Given the description of an element on the screen output the (x, y) to click on. 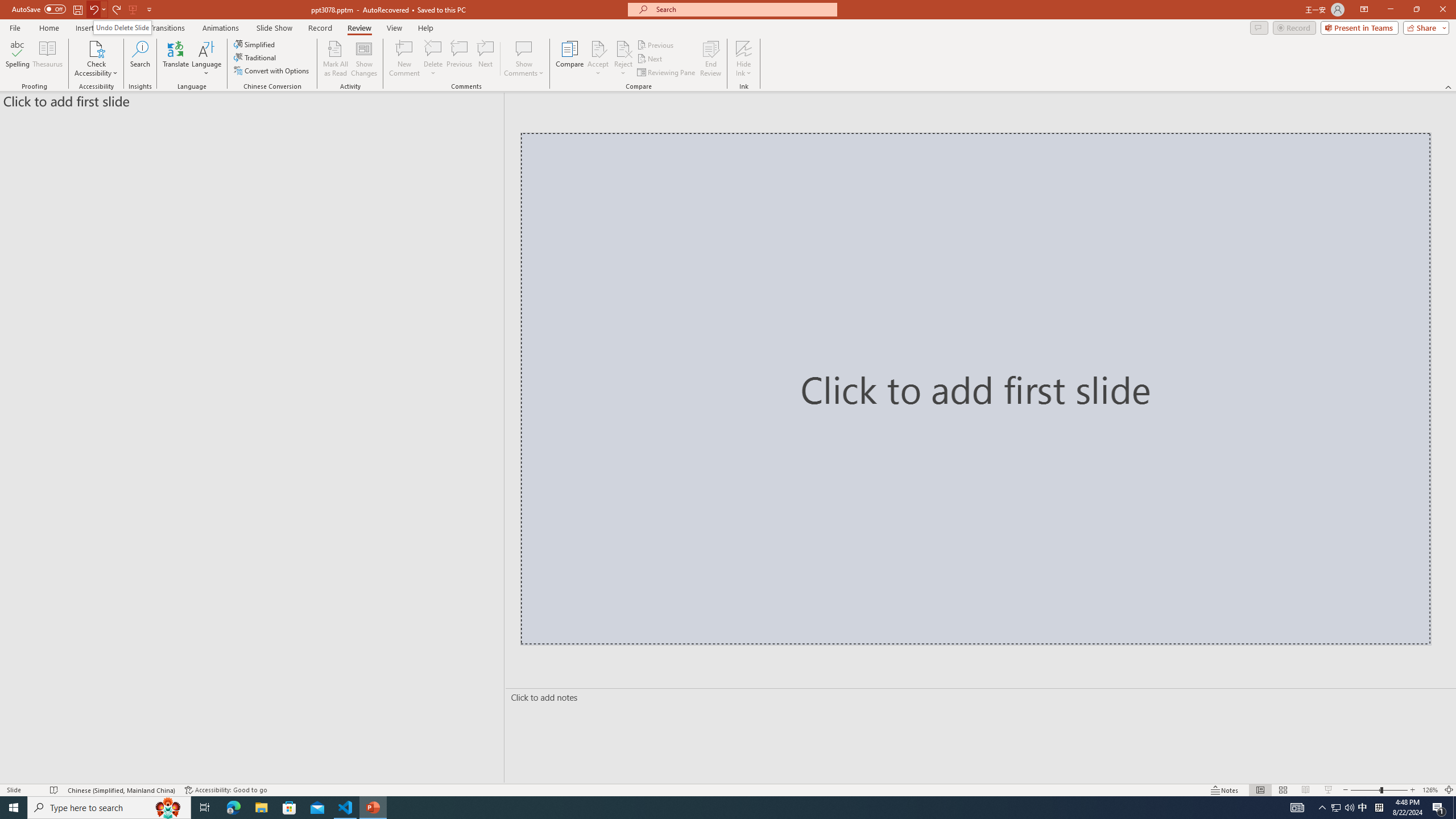
Undo Delete Slide (122, 27)
Reviewing Pane (666, 72)
